Given the description of an element on the screen output the (x, y) to click on. 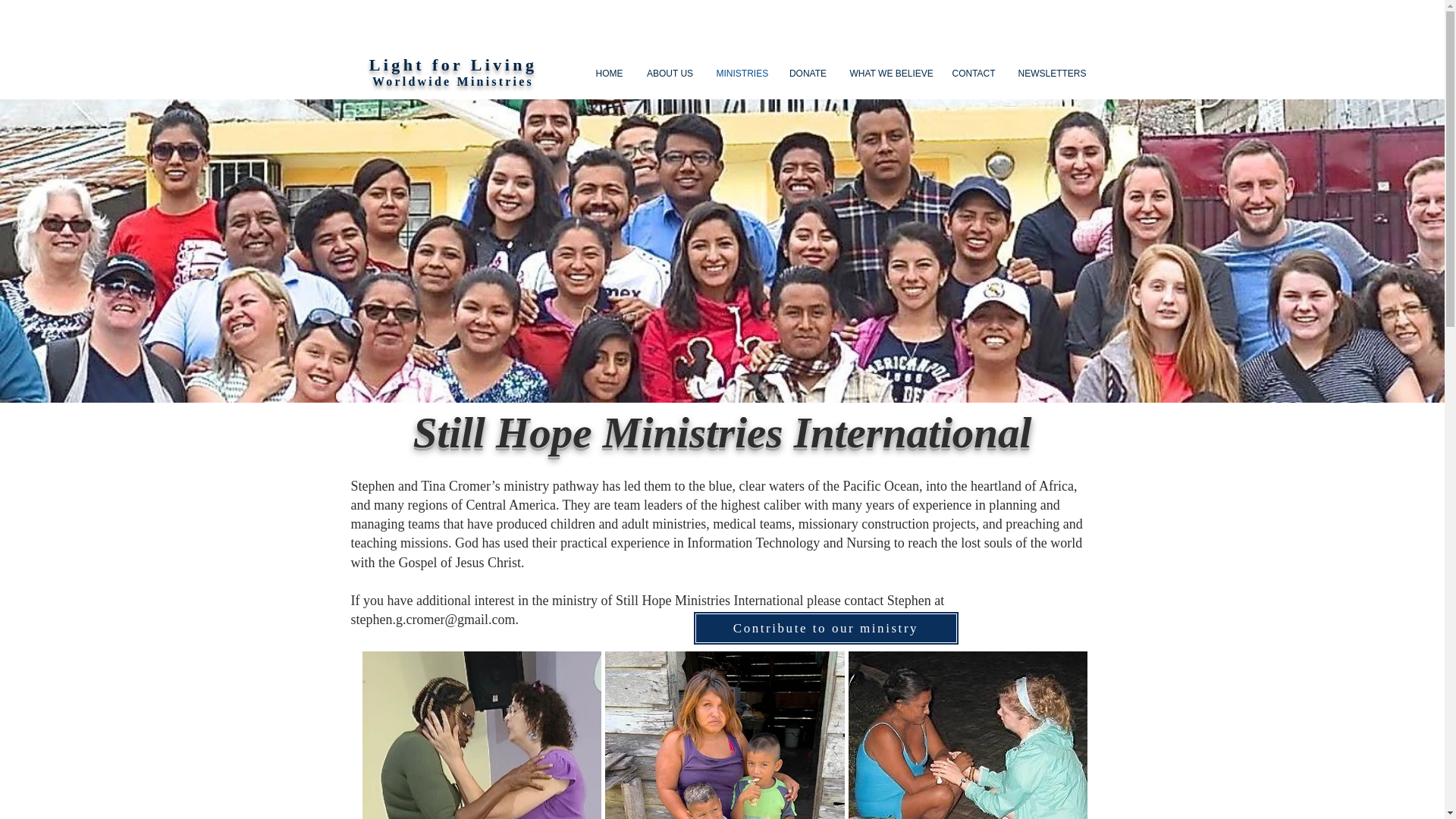
Contribute to our ministry (826, 627)
Light for Living (453, 64)
DONATE (807, 73)
WHAT WE BELIEVE (889, 73)
ABOUT US (669, 73)
Worldwide Ministries (454, 89)
CONTACT (973, 73)
HOME (608, 73)
MINISTRIES (740, 73)
NEWSLETTERS (1050, 73)
